Given the description of an element on the screen output the (x, y) to click on. 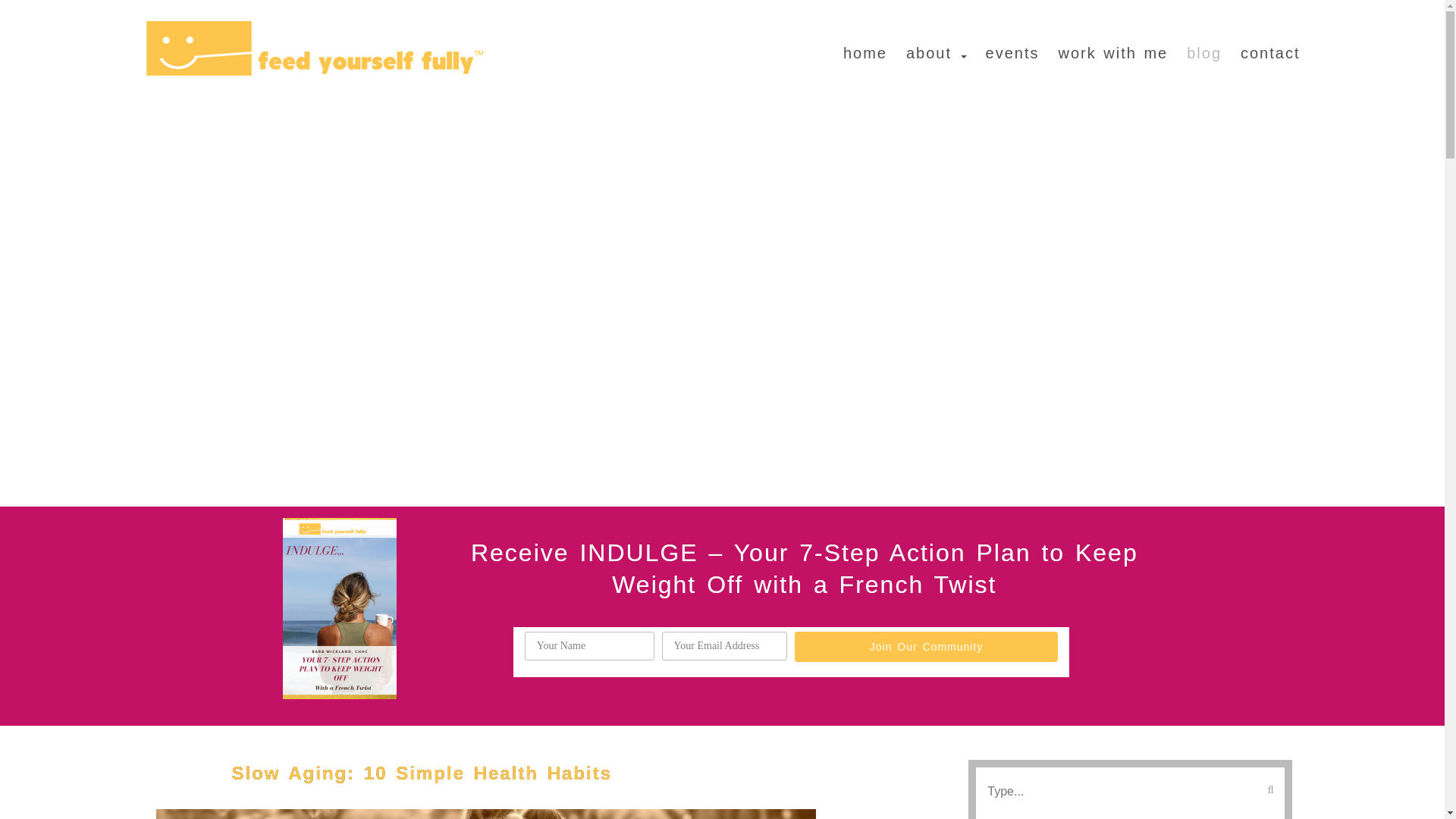
work with me (1103, 45)
contact (1260, 45)
about (926, 45)
home (855, 45)
events (1002, 45)
